Given the description of an element on the screen output the (x, y) to click on. 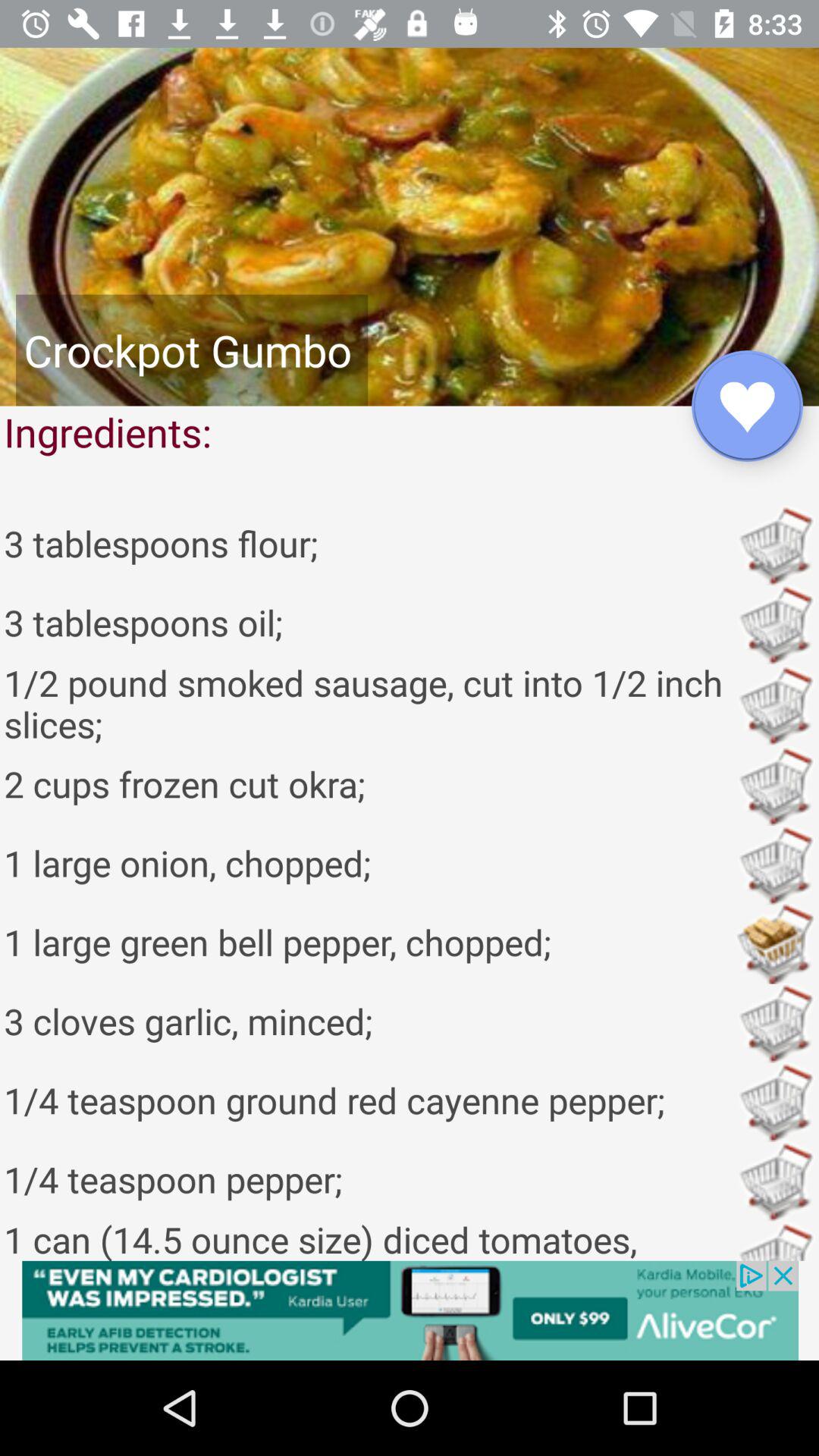
like option appear in the screen (747, 405)
